Given the description of an element on the screen output the (x, y) to click on. 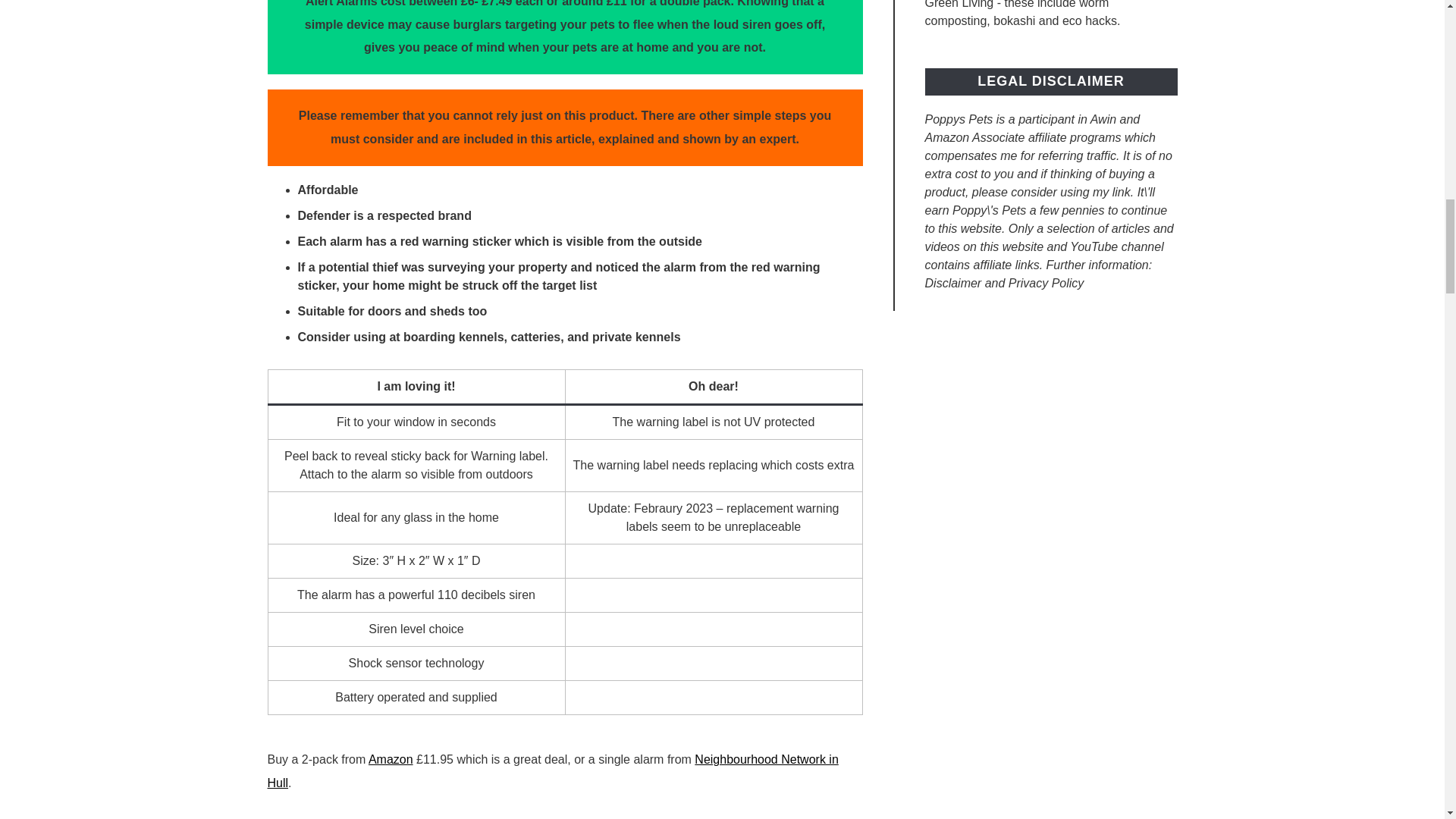
Amazon (390, 758)
Neighbourhood Network in Hull (552, 770)
